Given the description of an element on the screen output the (x, y) to click on. 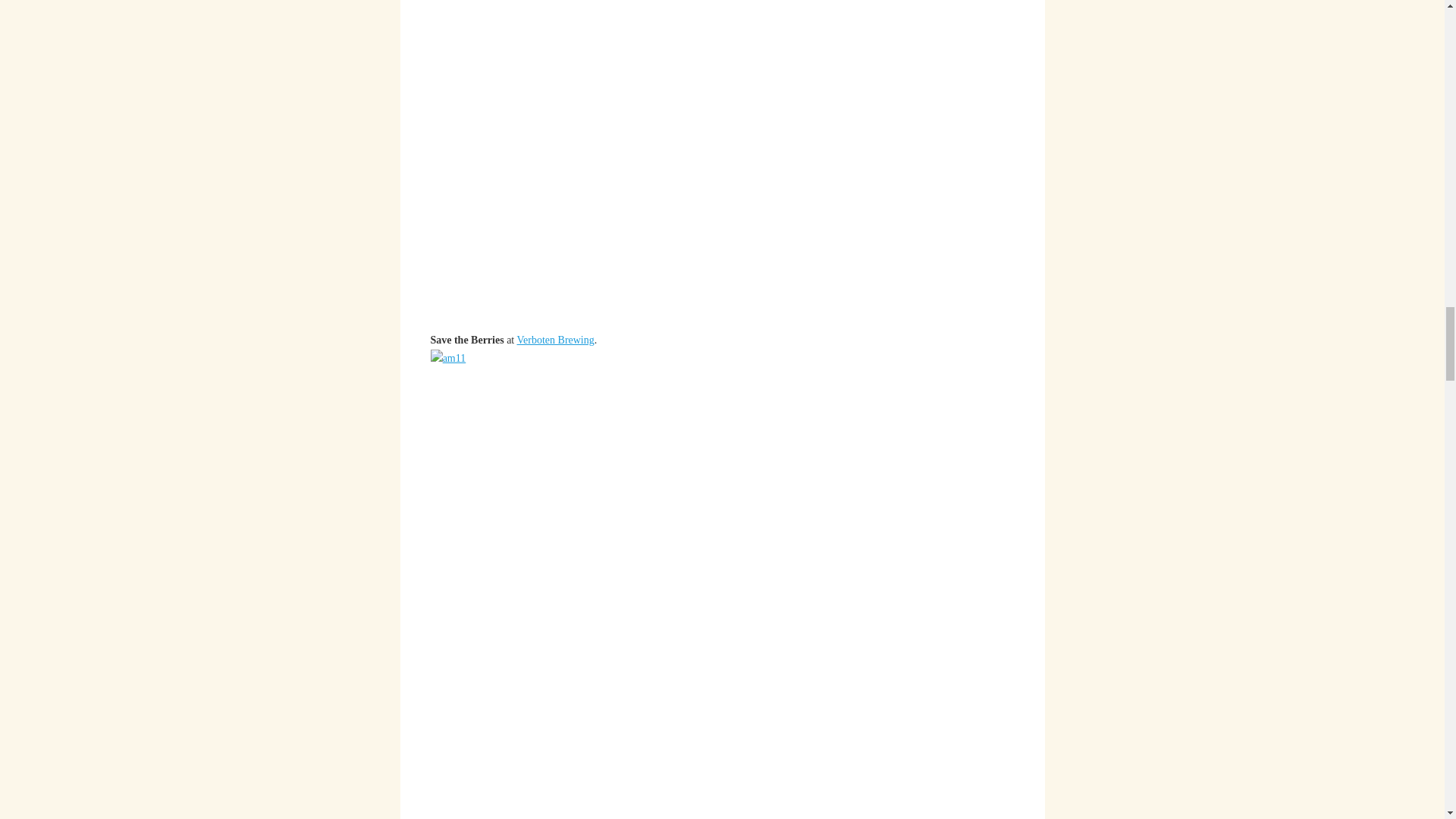
Verboten Brewing (555, 339)
Brewing at Verboten (555, 339)
